Given the description of an element on the screen output the (x, y) to click on. 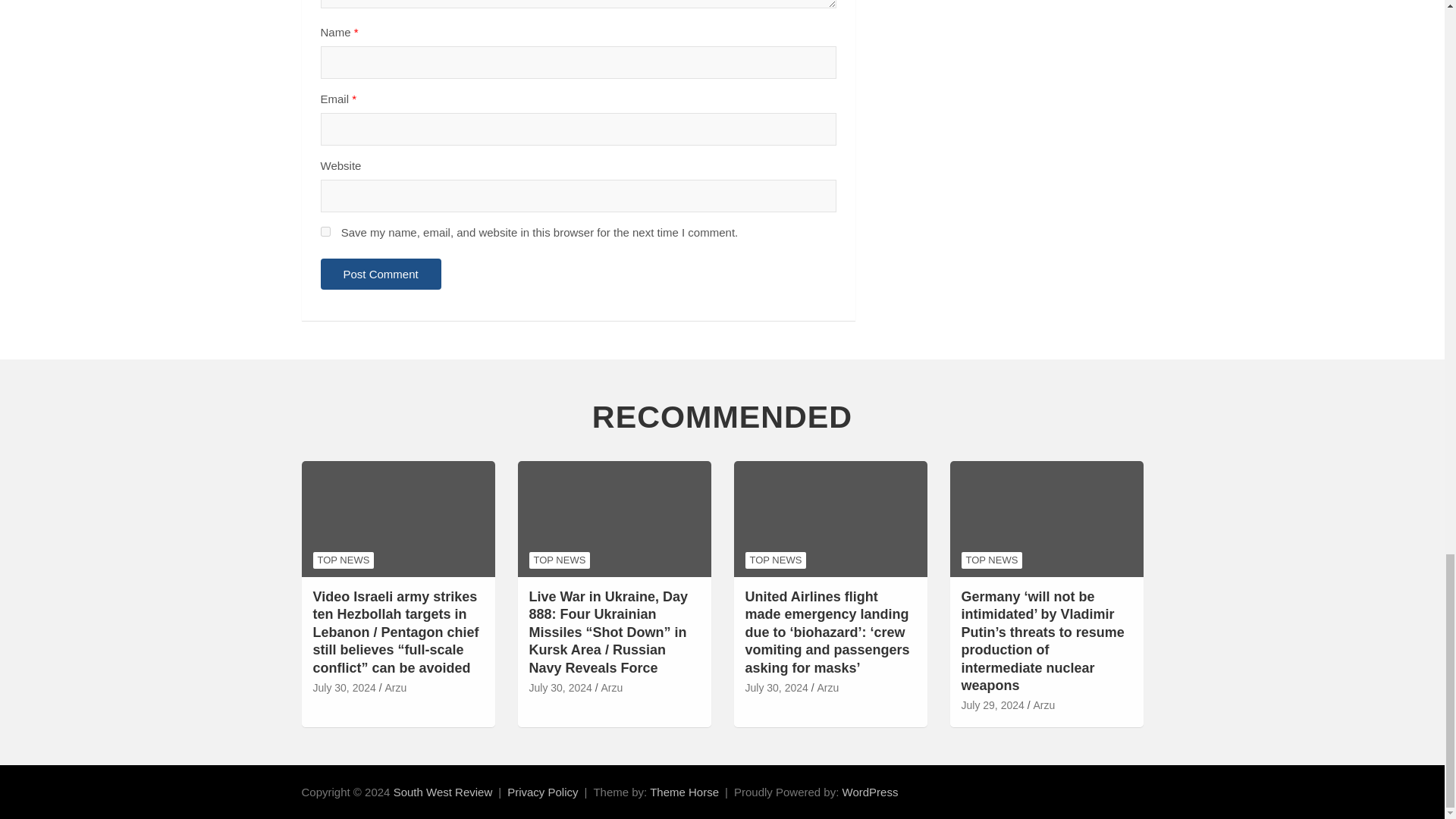
yes (325, 231)
Arzu (395, 688)
Post Comment (380, 273)
WordPress (870, 791)
TOP NEWS (343, 560)
Theme Horse (684, 791)
Post Comment (380, 273)
July 30, 2024 (344, 688)
South West Review (443, 791)
